Given the description of an element on the screen output the (x, y) to click on. 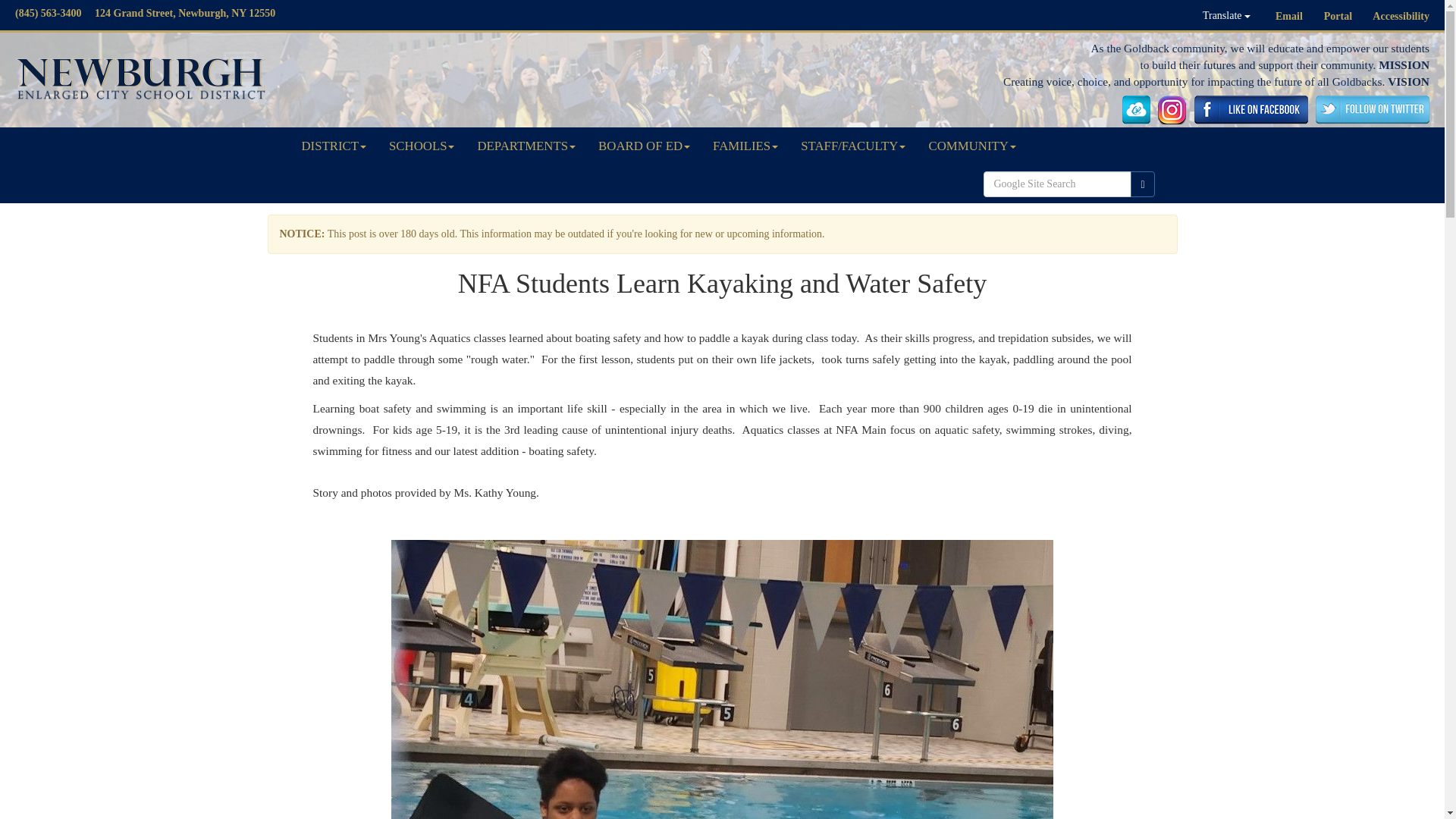
DISTRICT (333, 146)
Translate (1226, 15)
SCHOOLS (421, 146)
Email (1289, 16)
Portal (1337, 16)
Accessibility (1401, 16)
